Given the description of an element on the screen output the (x, y) to click on. 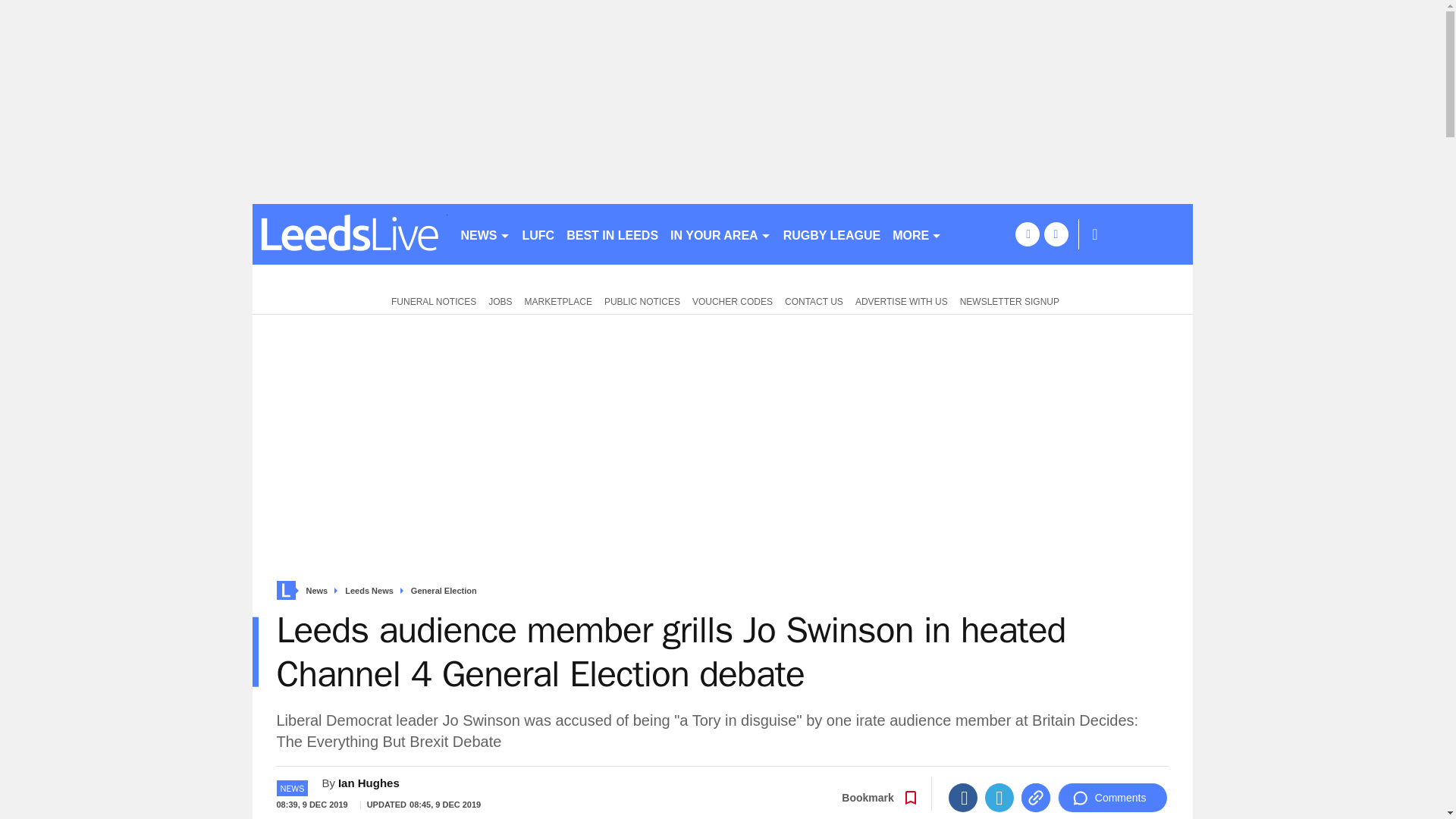
NEWS (485, 233)
IN YOUR AREA (720, 233)
News (317, 591)
NEWSLETTER SIGNUP (1009, 300)
CONTACT US (813, 300)
VOUCHER CODES (731, 300)
JOBS (499, 300)
frontpage (285, 589)
Facebook (962, 797)
MARKETPLACE (558, 300)
